Given the description of an element on the screen output the (x, y) to click on. 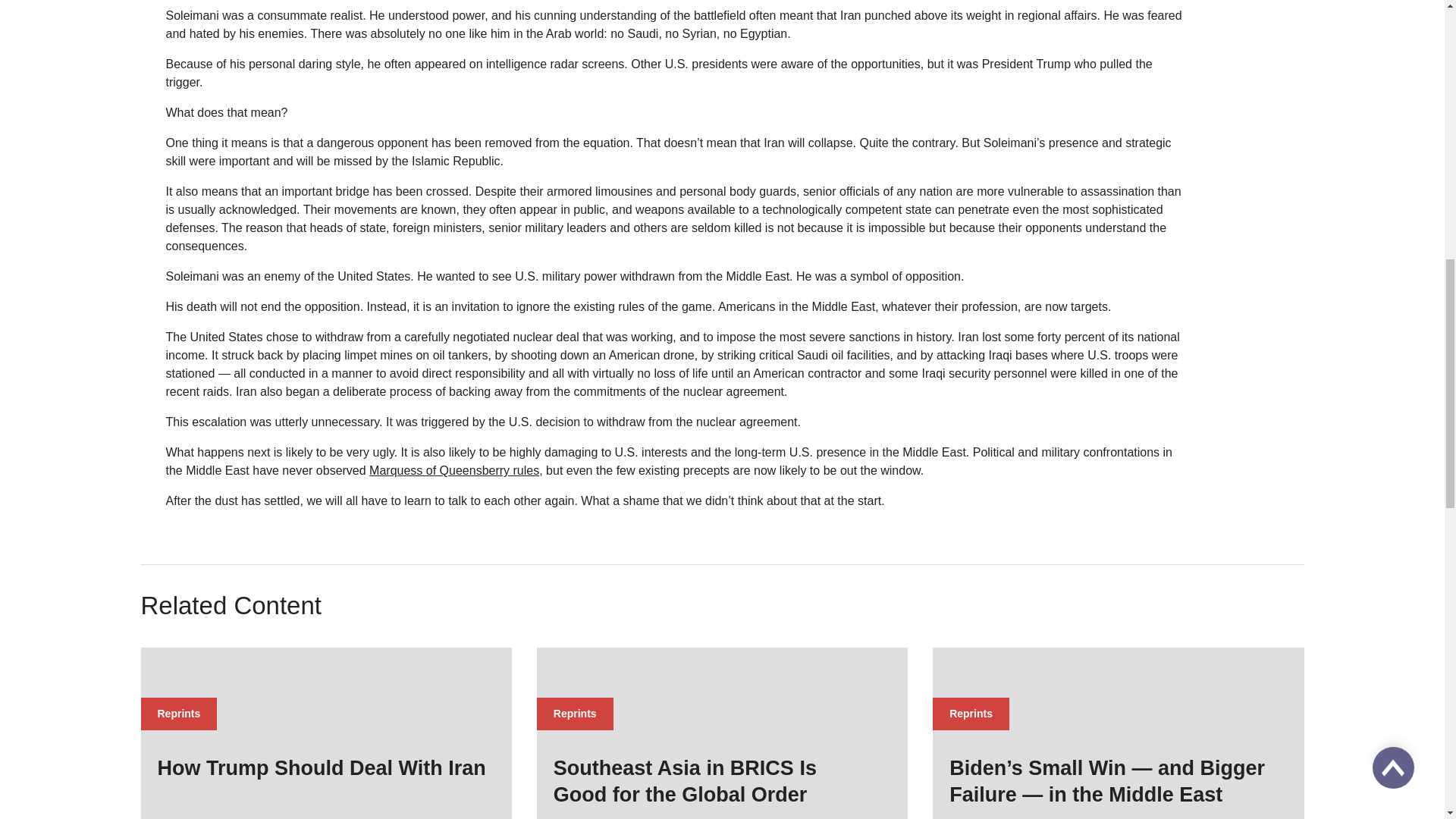
How Trump Should Deal With Iran (326, 768)
Southeast Asia in BRICS Is Good for the Global Order (722, 781)
Marquess of Queensberry rules (453, 470)
Reprints (178, 713)
How Trump Should Deal With Iran (326, 768)
